Given the description of an element on the screen output the (x, y) to click on. 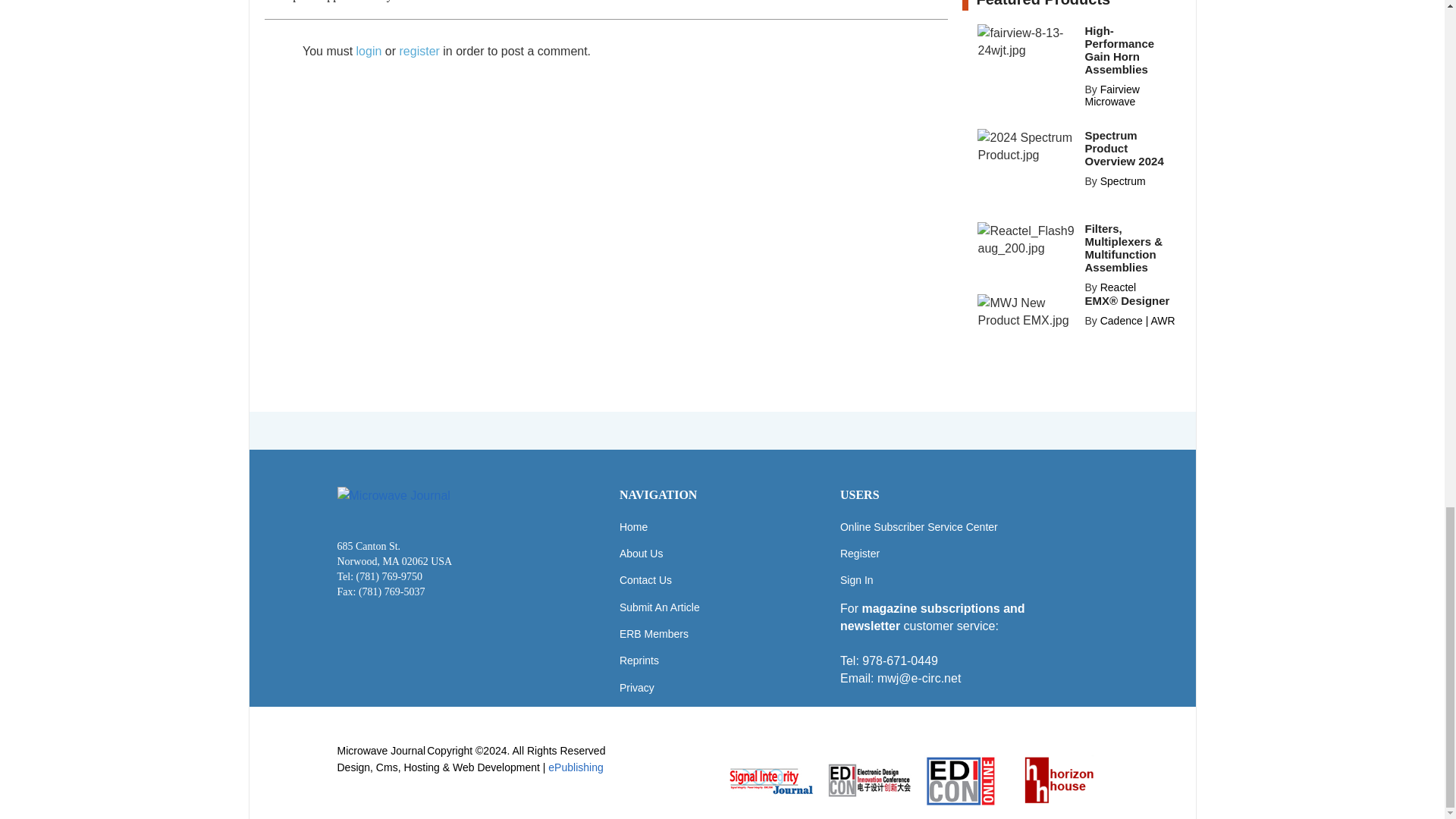
fairview-8-13-24wjt.jpg (1025, 41)
2024 Spectrum Product.jpg (1025, 145)
MWJ New Product EMX.jpg (1025, 311)
